Given the description of an element on the screen output the (x, y) to click on. 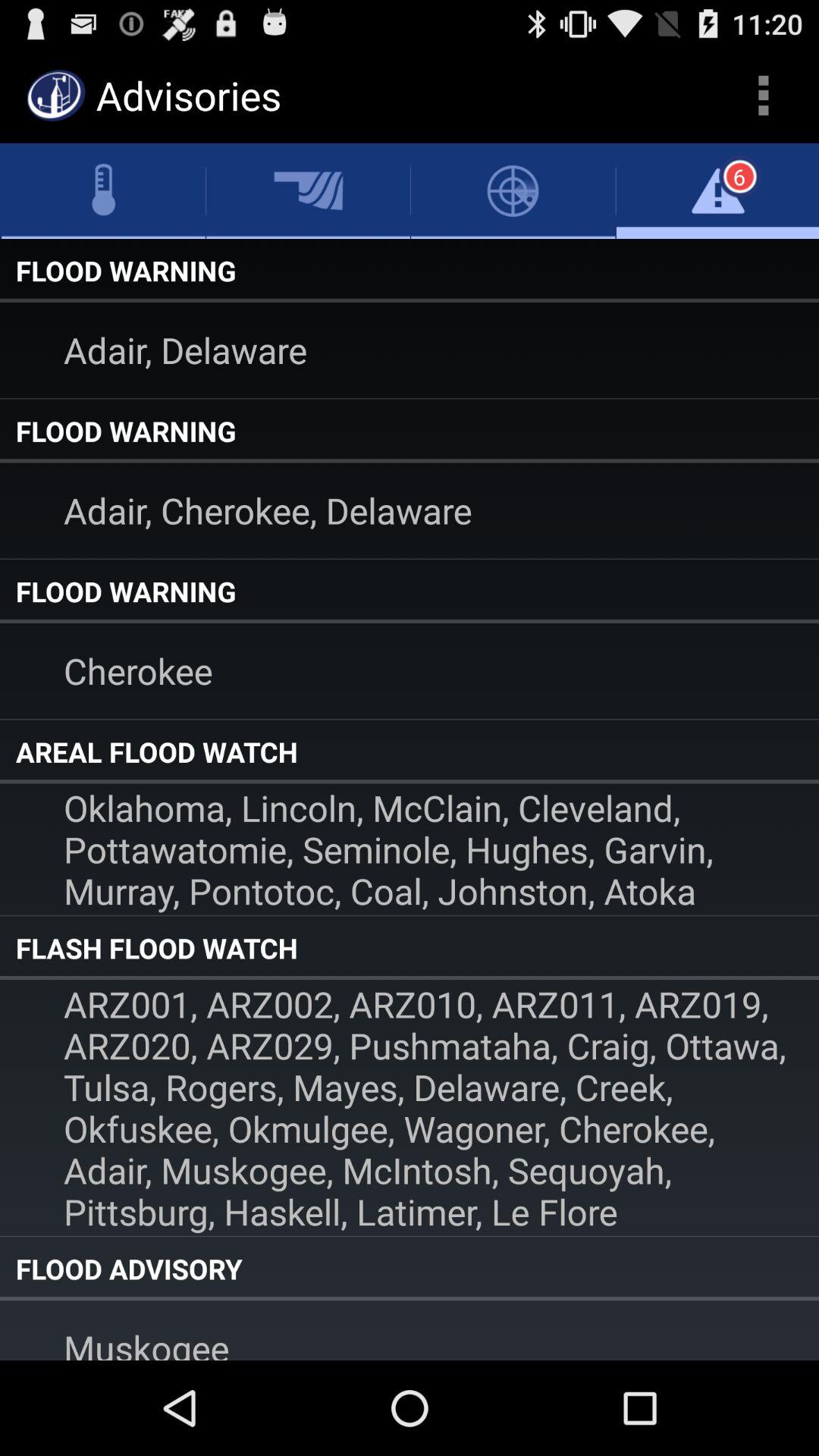
press the icon below flash flood watch item (409, 1107)
